Given the description of an element on the screen output the (x, y) to click on. 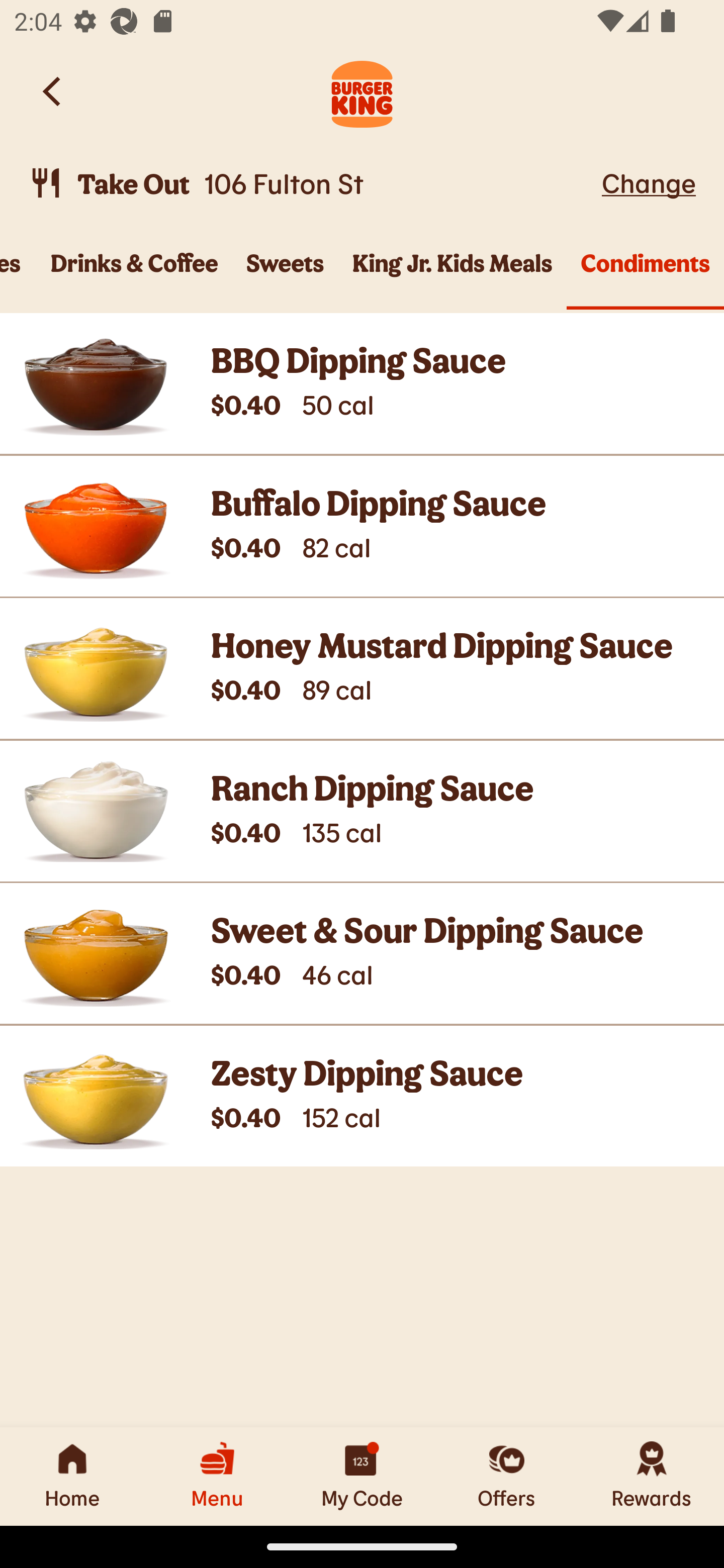
Burger King Logo. Navigate to Home (362, 91)
Back (52, 91)
Take Out, 106 Fulton St  Take Out 106 Fulton St (311, 183)
Change (648, 182)
Drinks & Coffee (134, 273)
Sweets (285, 273)
King Jr. Kids Meals (452, 273)
Condiments (645, 273)
Home (72, 1475)
Menu (216, 1475)
My Code (361, 1475)
Offers (506, 1475)
Rewards (651, 1475)
